Given the description of an element on the screen output the (x, y) to click on. 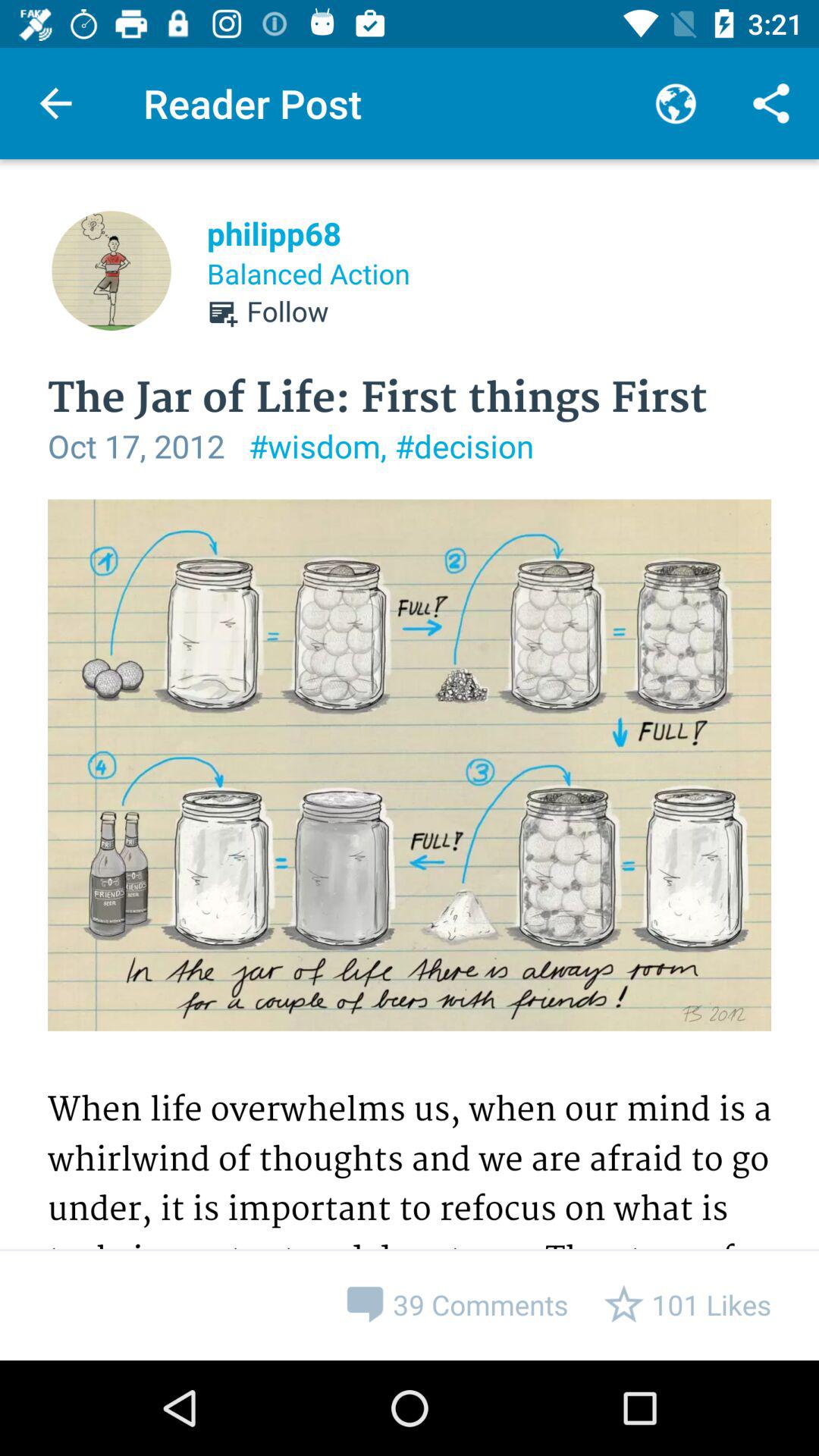
article content (409, 929)
